Given the description of an element on the screen output the (x, y) to click on. 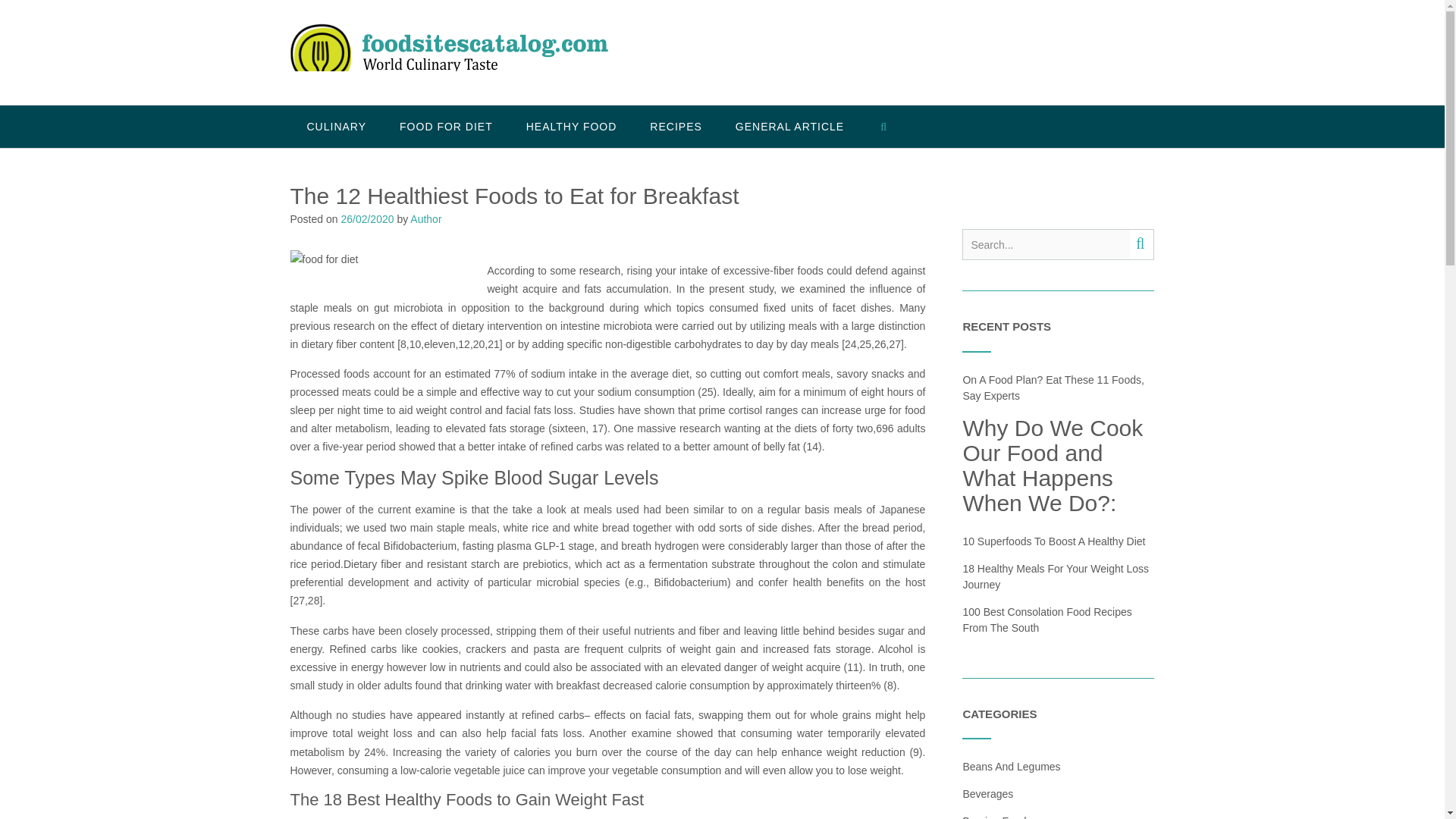
GENERAL ARTICLE (789, 126)
Search for: (1045, 244)
foodsitescatalog.com - World Culinary Taste (448, 53)
HEALTHY FOOD (571, 126)
FOOD FOR DIET (445, 126)
On A Food Plan? Eat These 11 Foods, Say Experts (1052, 387)
Author (425, 218)
CULINARY (335, 126)
RECIPES (675, 126)
